Given the description of an element on the screen output the (x, y) to click on. 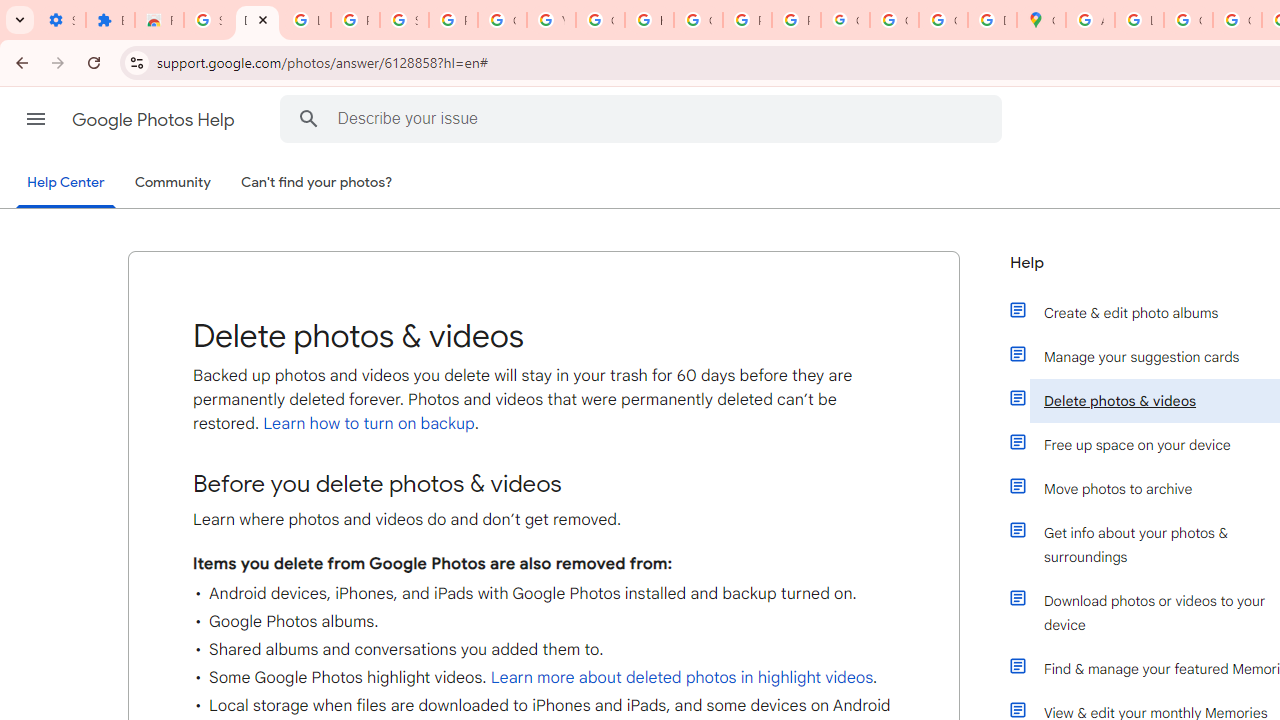
Create your Google Account (1188, 20)
Reviews: Helix Fruit Jump Arcade Game (159, 20)
Google Account (502, 20)
Settings - On startup (61, 20)
